Given the description of an element on the screen output the (x, y) to click on. 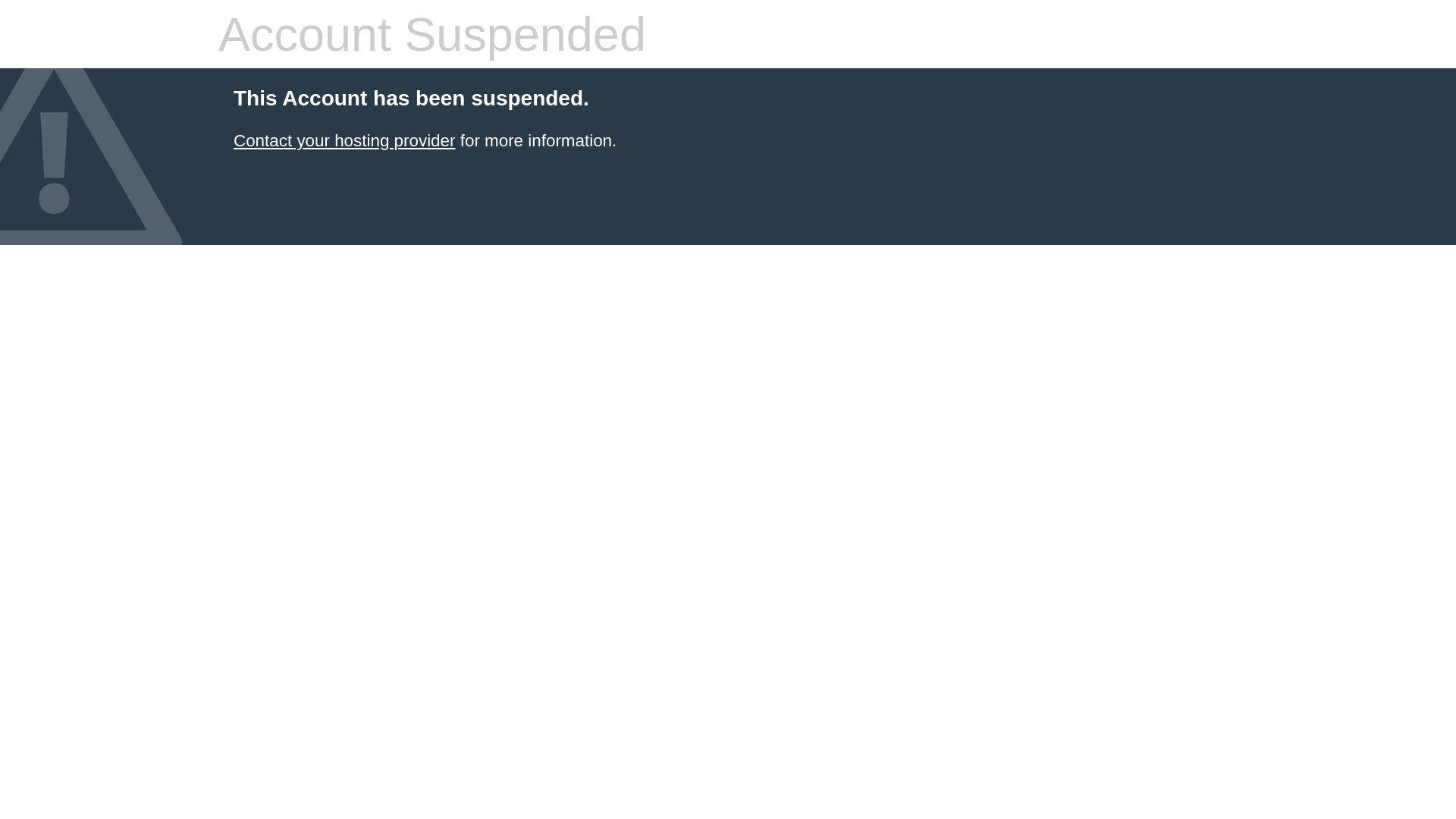
Contact your hosting provider Element type: text (344, 140)
